Given the description of an element on the screen output the (x, y) to click on. 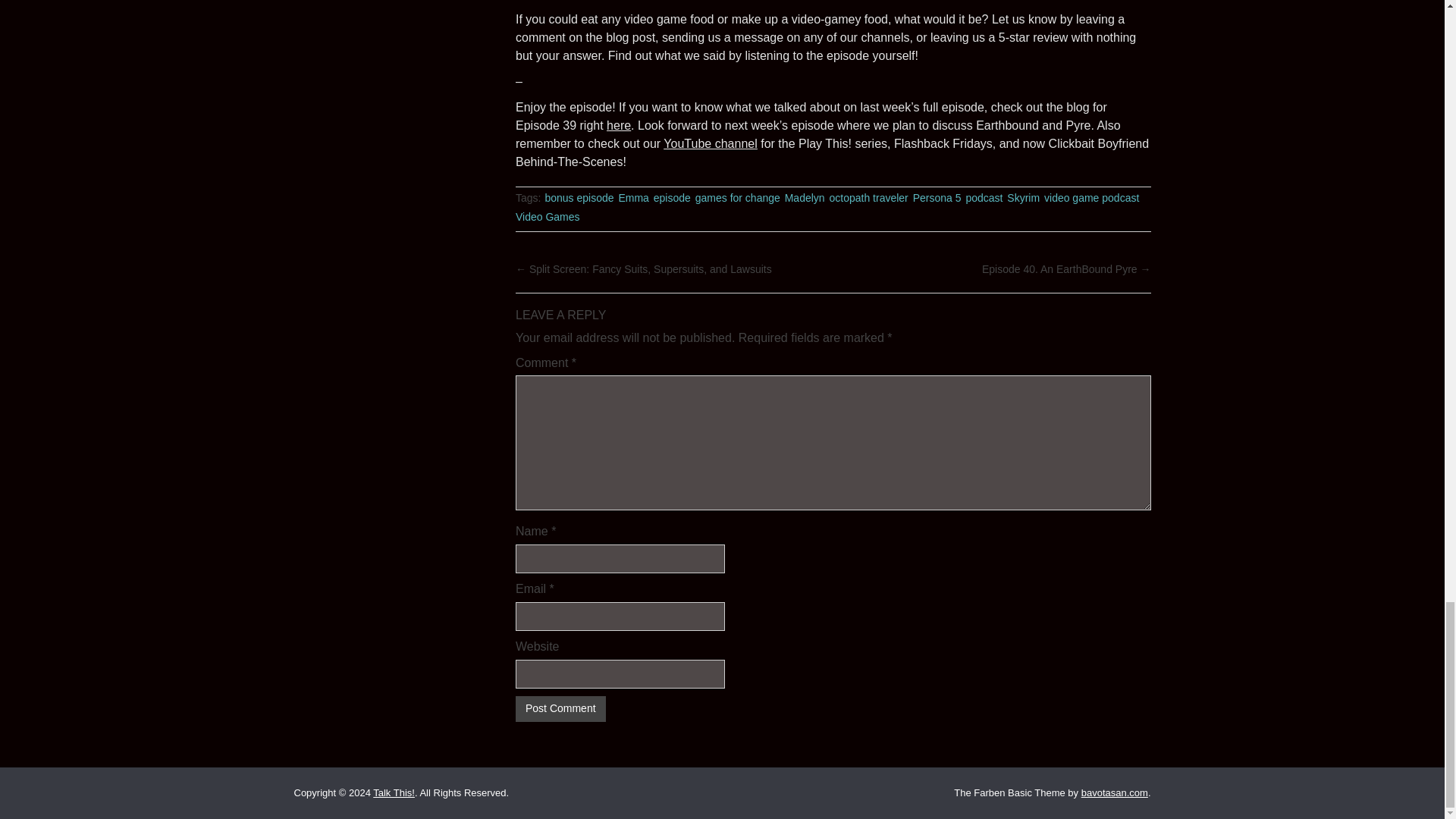
Madelyn (804, 198)
bonus episode (578, 198)
Emma (632, 198)
Video Games (547, 217)
Post Comment (560, 708)
podcast (984, 198)
YouTube channel (710, 143)
here (618, 124)
games for change (737, 198)
video game podcast (1090, 198)
octopath traveler (868, 198)
episode (671, 198)
Skyrim (1023, 198)
Persona 5 (936, 198)
